Given the description of an element on the screen output the (x, y) to click on. 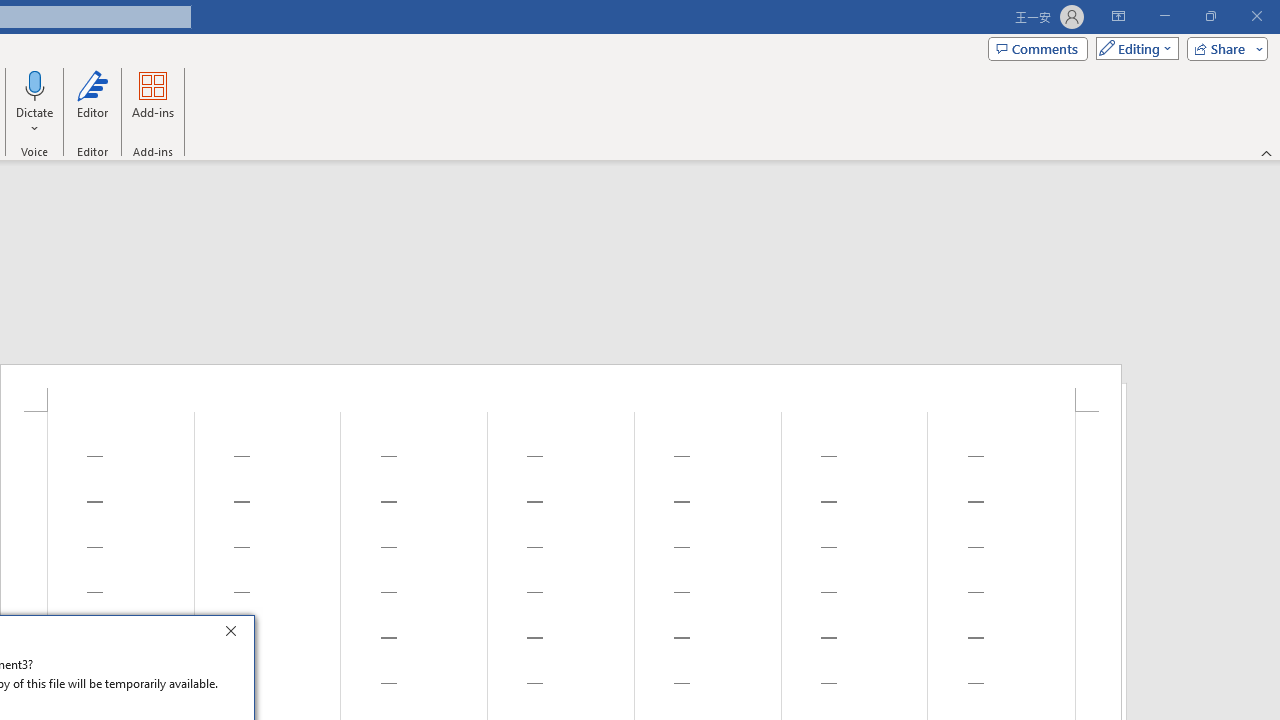
More Options (35, 121)
